Given the description of an element on the screen output the (x, y) to click on. 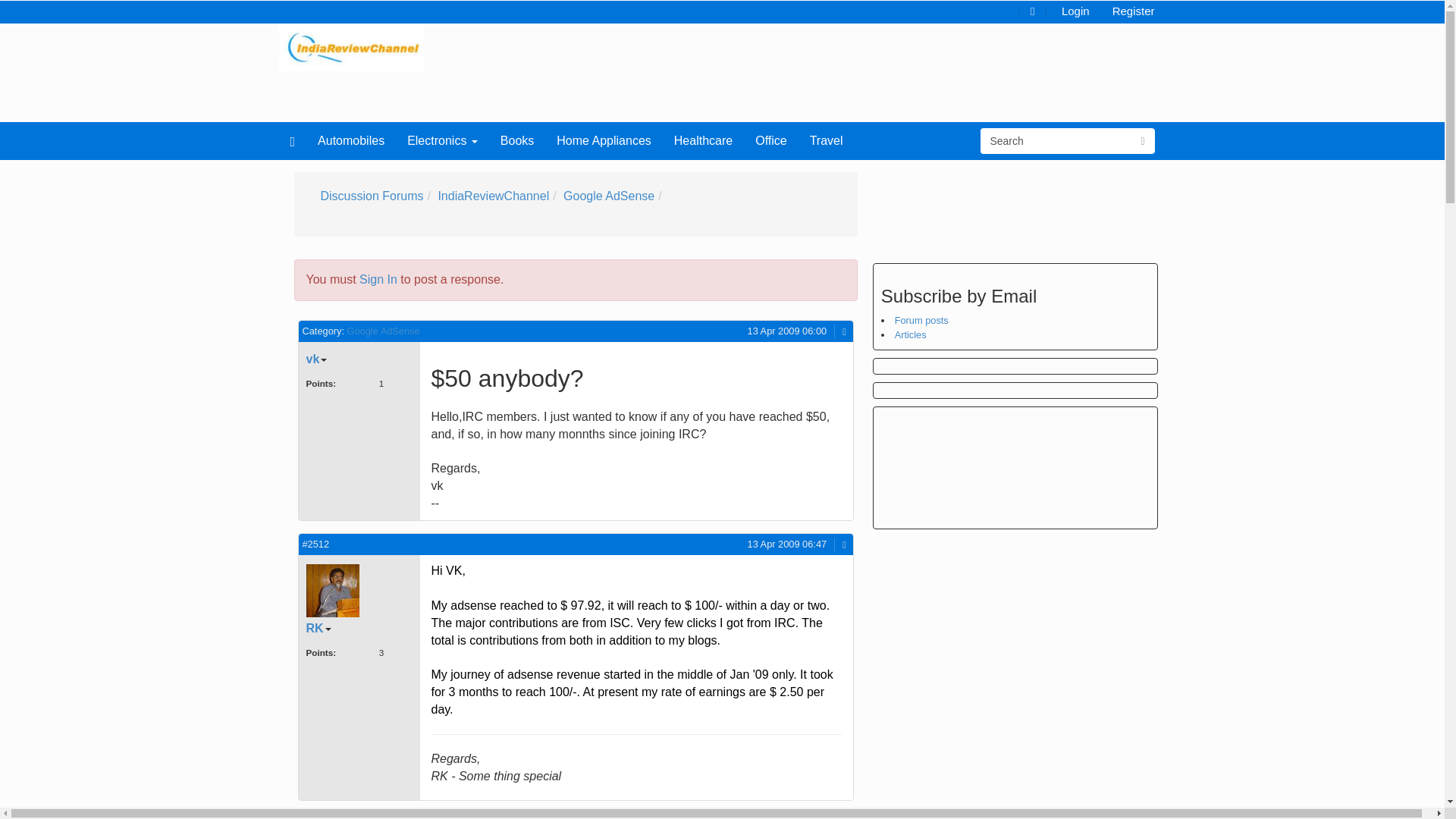
Sign In (378, 278)
Google AdSense (383, 330)
Office (770, 140)
Google AdSense (608, 195)
Electronics (442, 140)
vk (316, 359)
Home Appliances (603, 140)
Books (516, 140)
IndiaReviewChannel.com (352, 46)
Login (1074, 9)
